Given the description of an element on the screen output the (x, y) to click on. 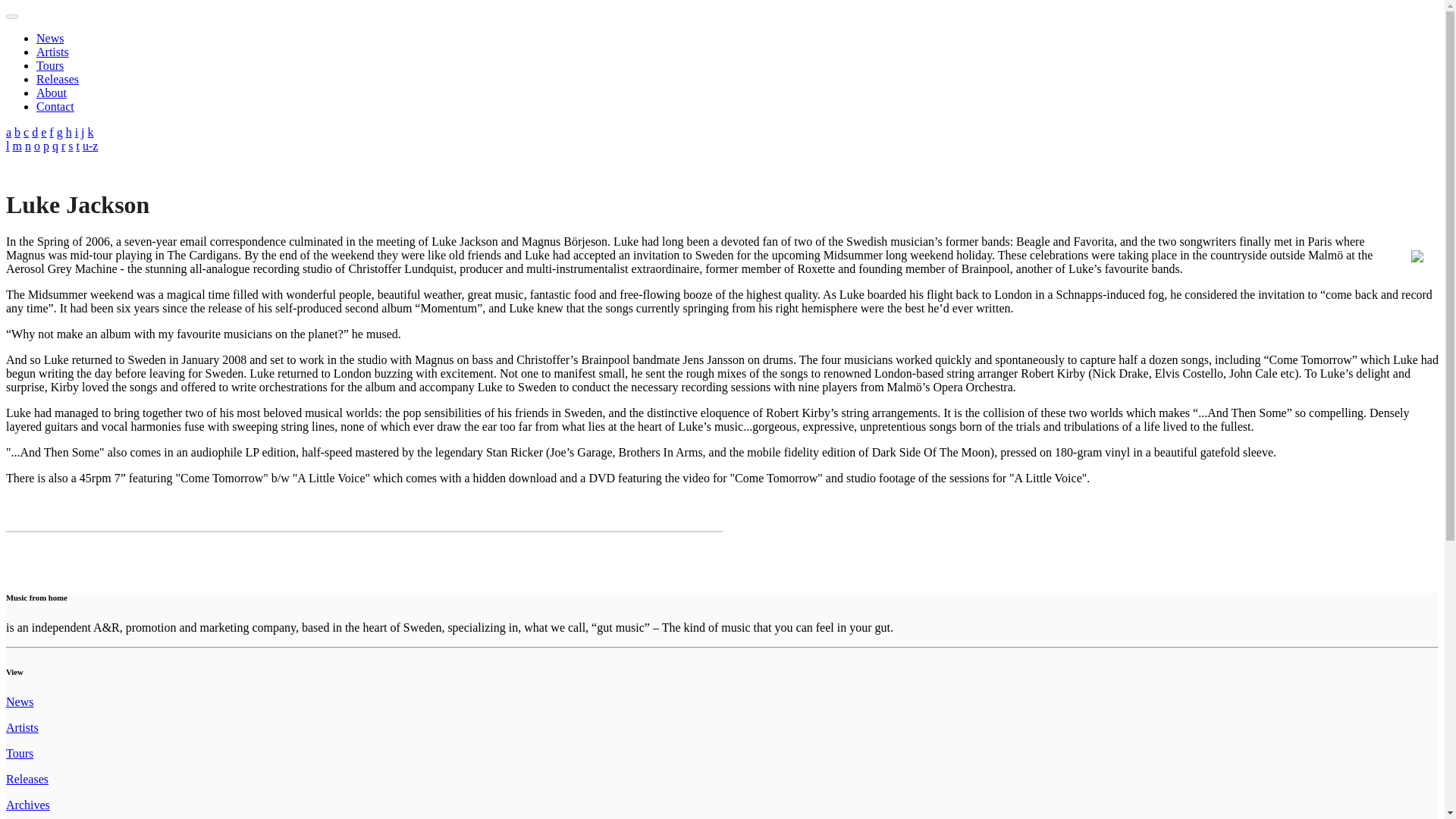
j (82, 132)
p (46, 145)
d (34, 132)
i (76, 132)
Releases (26, 779)
e (43, 132)
Artists (22, 727)
Contact (55, 106)
t (76, 145)
k (90, 132)
Releases (57, 78)
News (50, 38)
a (8, 132)
r (63, 145)
Tours (19, 753)
